Given the description of an element on the screen output the (x, y) to click on. 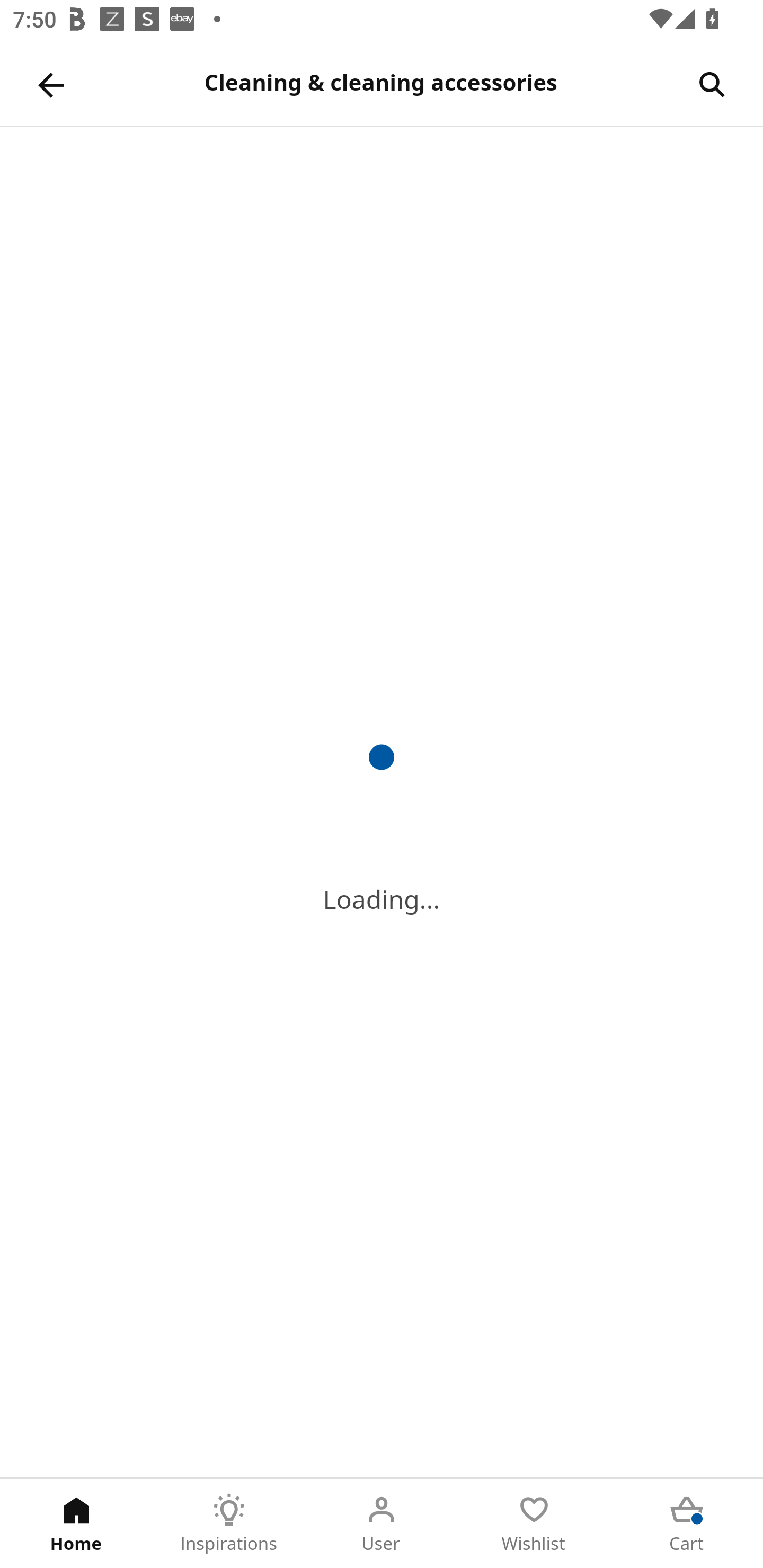
Home
Tab 1 of 5 (76, 1522)
Inspirations
Tab 2 of 5 (228, 1522)
User
Tab 3 of 5 (381, 1522)
Wishlist
Tab 4 of 5 (533, 1522)
Cart
Tab 5 of 5 (686, 1522)
